Given the description of an element on the screen output the (x, y) to click on. 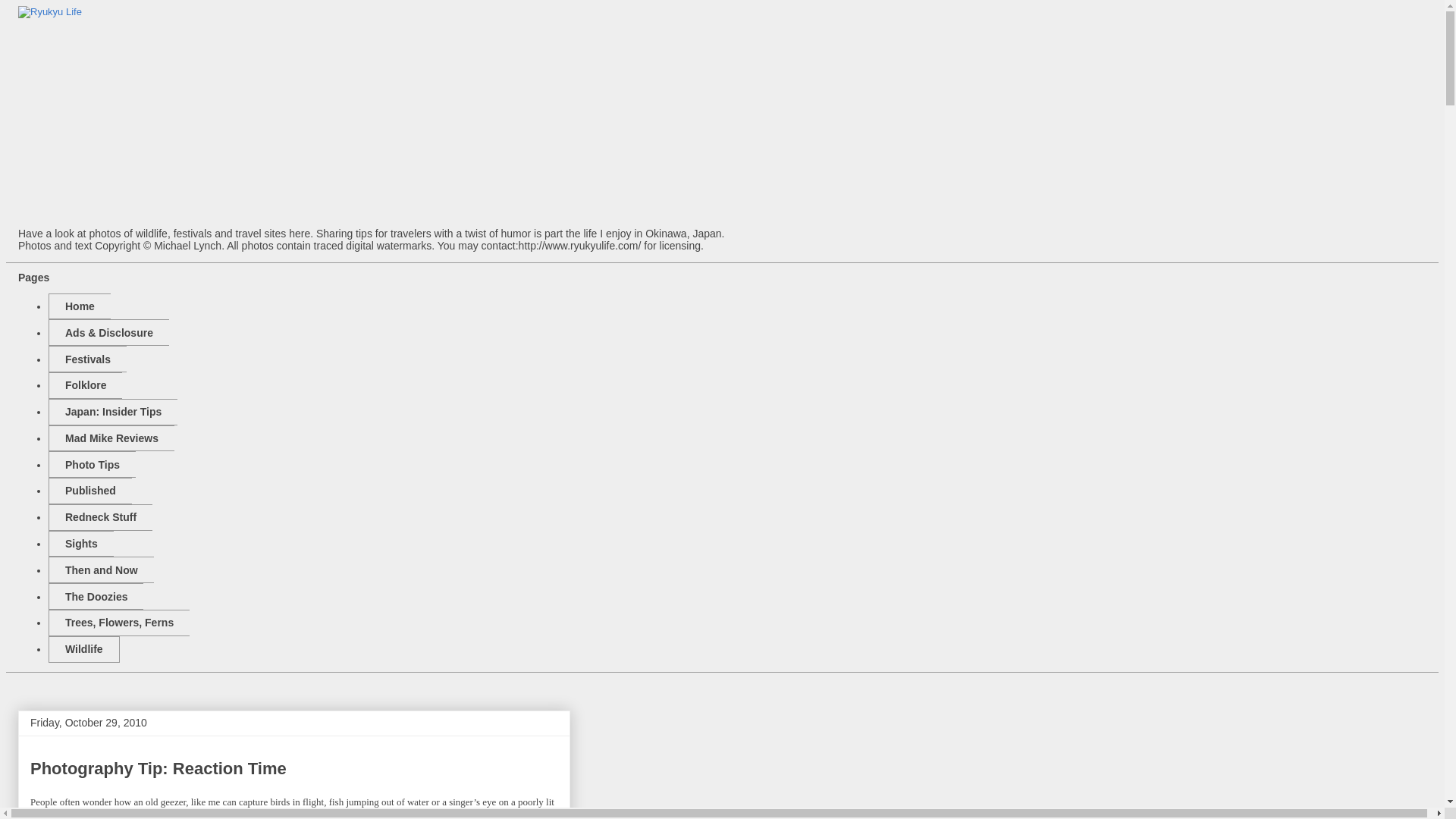
Japan: Insider Tips (112, 411)
Then and Now (101, 569)
Sights (80, 543)
Mad Mike Reviews (111, 438)
Wildlife (83, 649)
Redneck Stuff (100, 517)
Home (79, 306)
The Doozies (95, 596)
Trees, Flowers, Ferns (118, 622)
Festivals (87, 358)
Folklore (85, 385)
Published (90, 490)
Photo Tips (91, 464)
